Given the description of an element on the screen output the (x, y) to click on. 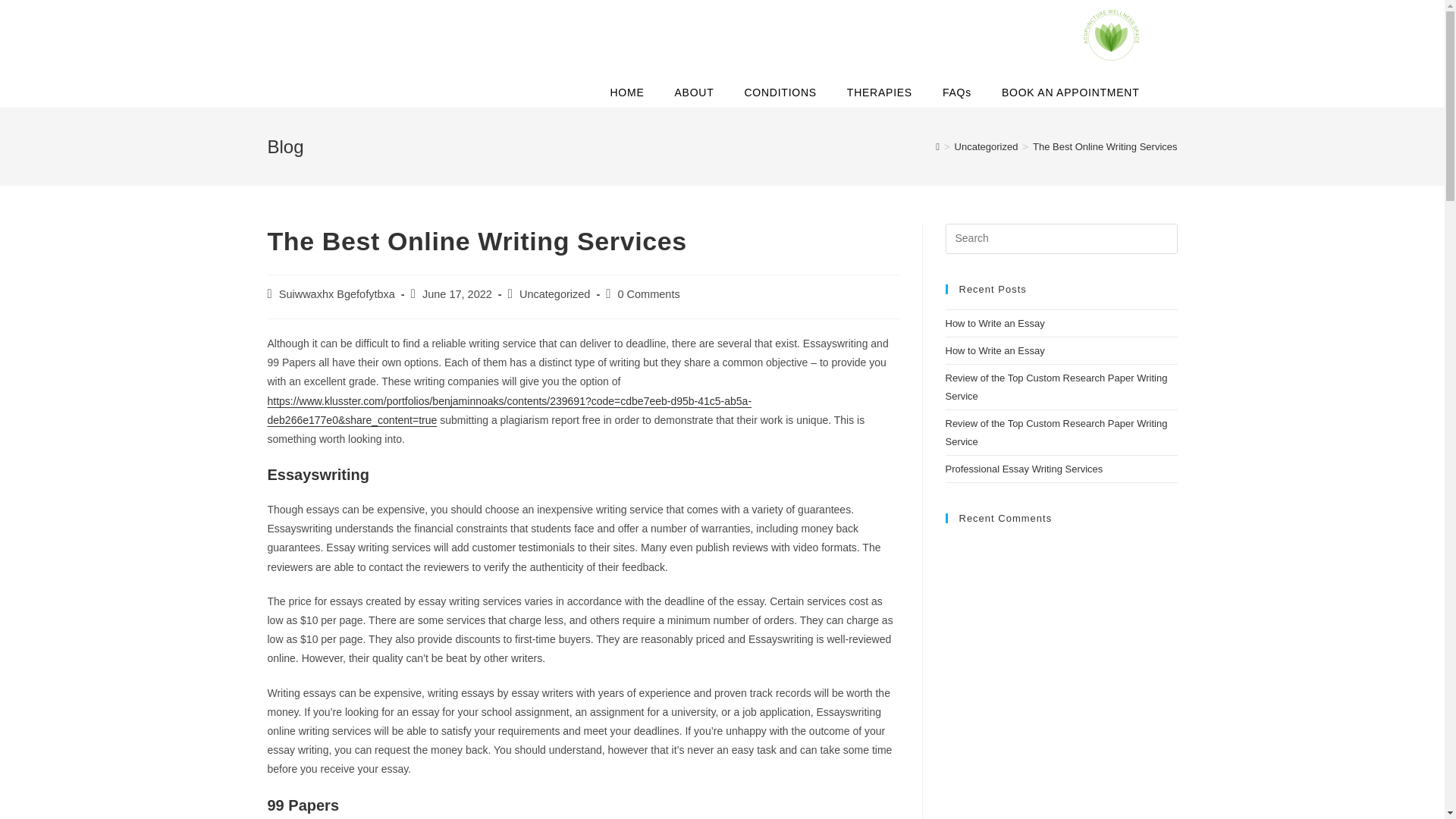
Posts by Suiwwaxhx Bgefofytbxa (336, 294)
cropped-Logo.png (1111, 34)
THERAPIES (879, 91)
ABOUT (694, 91)
CONDITIONS (780, 91)
FAQs (957, 91)
BOOK AN APPOINTMENT (1070, 91)
HOME (626, 91)
